Given the description of an element on the screen output the (x, y) to click on. 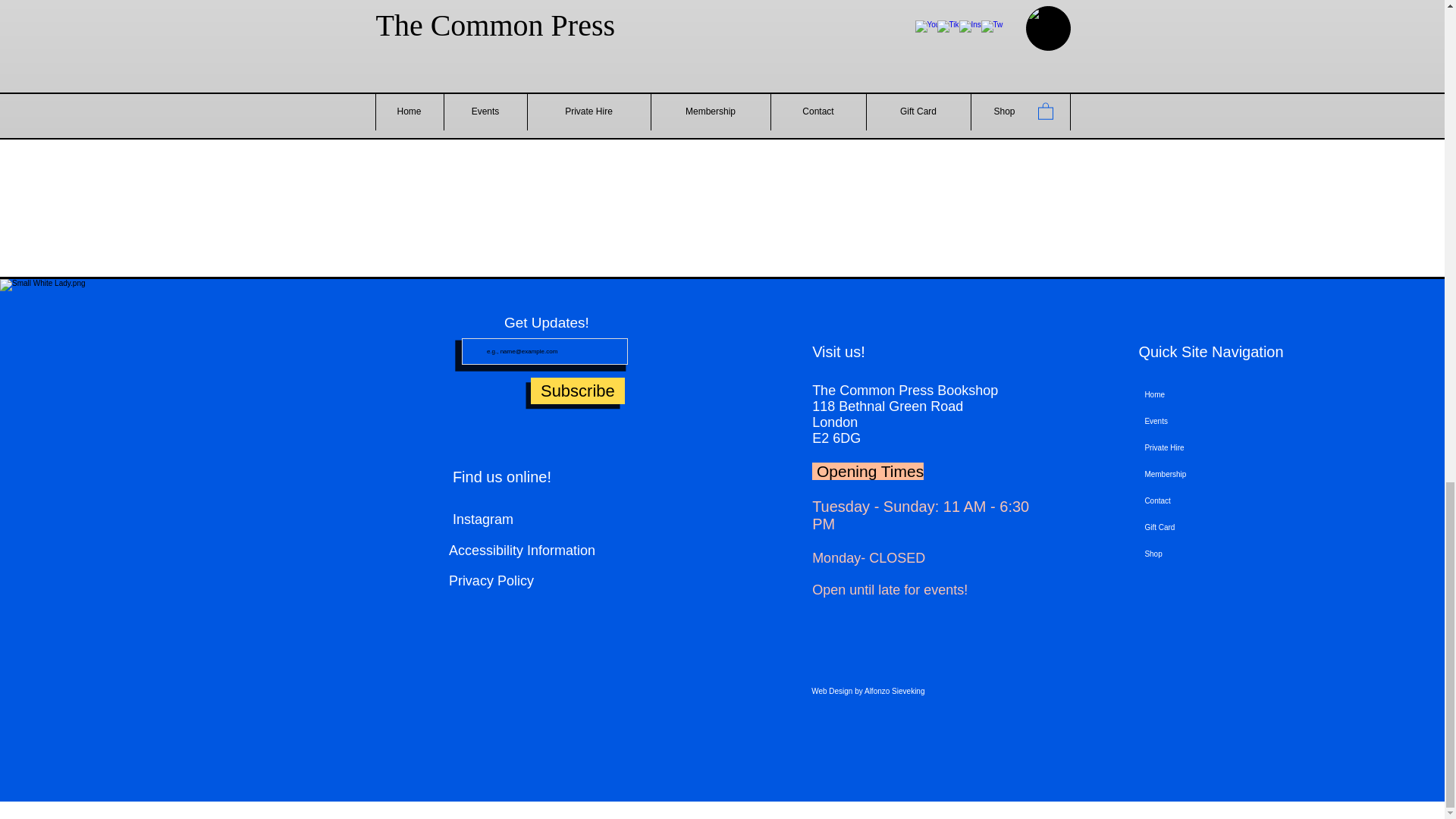
Contact (1236, 500)
Privacy Policy (562, 580)
Shop (1236, 553)
Gift Card (1236, 527)
Private Hire (1236, 447)
Home (1236, 394)
Accessibility Information (521, 549)
Subscribe (577, 390)
Events (1236, 420)
Instagram (577, 519)
Membership (1236, 474)
